Given the description of an element on the screen output the (x, y) to click on. 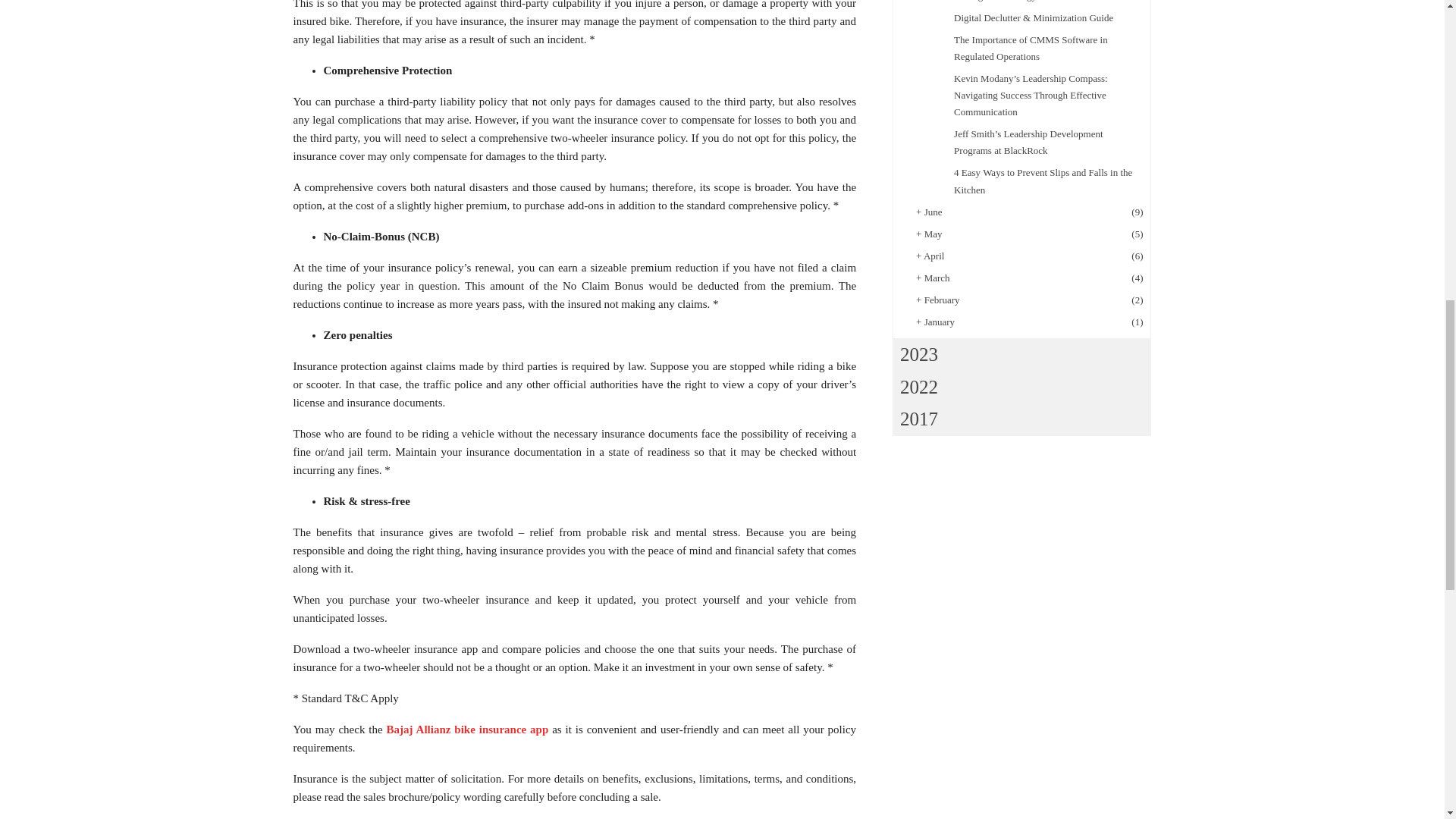
Bajaj Allianz bike insurance app (467, 729)
